Given the description of an element on the screen output the (x, y) to click on. 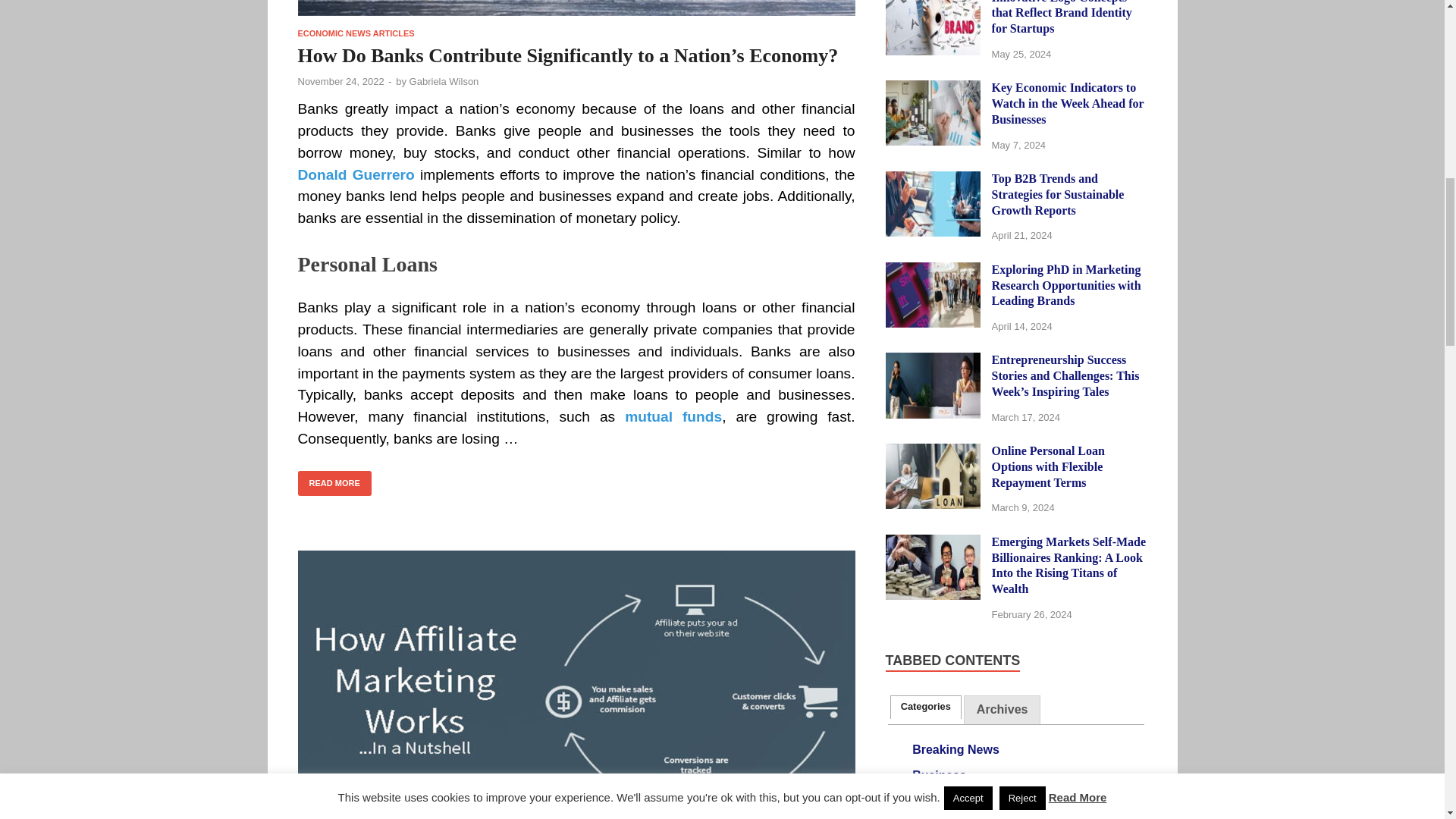
Top B2B Trends and Strategies for Sustainable Growth Reports (932, 179)
Online Personal Loan Options with Flexible Repayment Terms (932, 451)
